Given the description of an element on the screen output the (x, y) to click on. 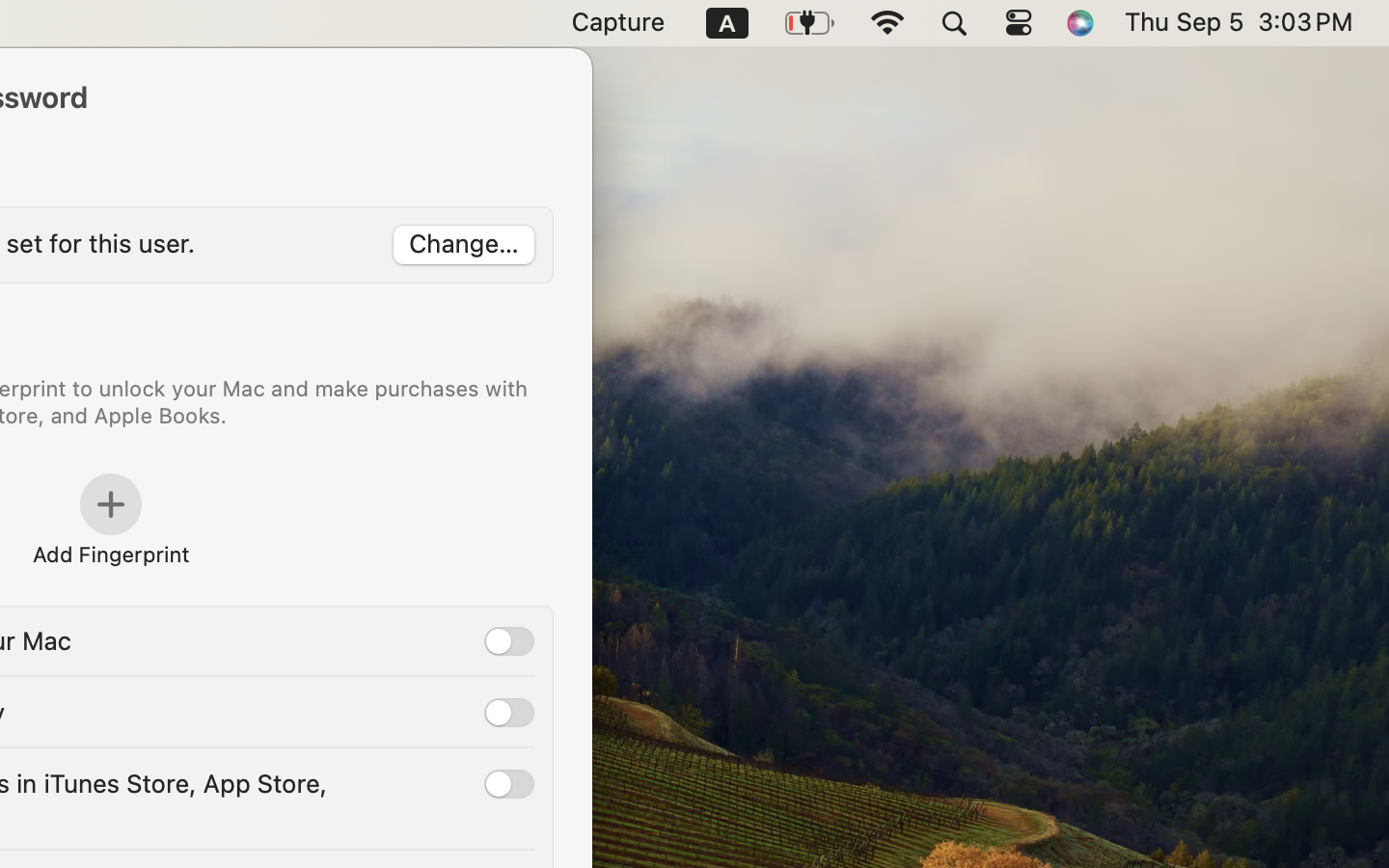
Add Fingerprint Element type: AXStaticText (108, 553)
